Given the description of an element on the screen output the (x, y) to click on. 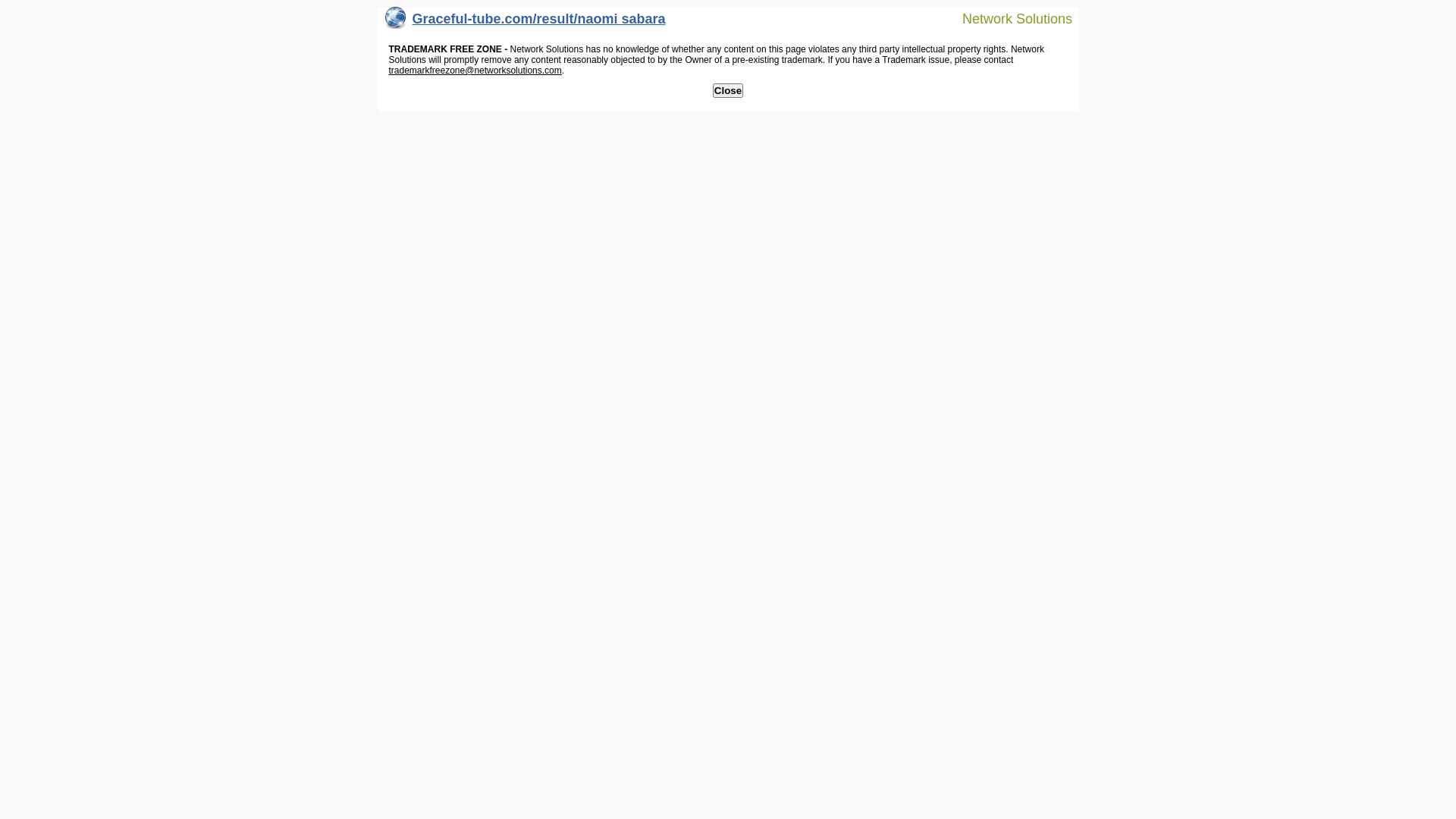
trademarkfreezone@networksolutions.com Element type: text (474, 70)
Graceful-tube.com/result/naomi sabara Element type: text (525, 21)
Network Solutions Element type: text (1007, 17)
Close Element type: text (727, 90)
